Given the description of an element on the screen output the (x, y) to click on. 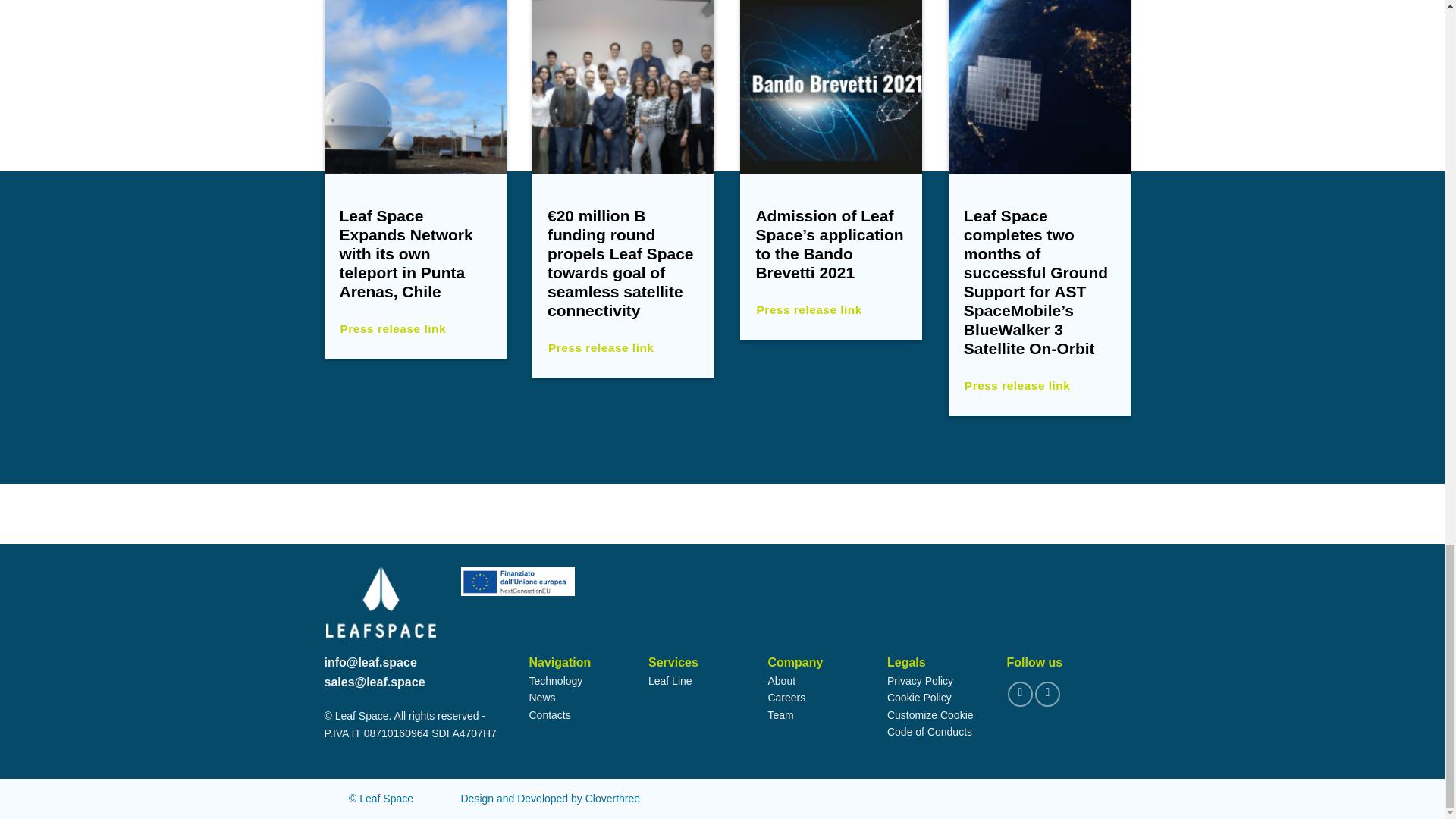
Press release link (415, 328)
Press release link (622, 347)
Press release link (831, 309)
Segui su LinkedIn (1047, 693)
Press release link (1039, 385)
Seguici su Twitter (1019, 693)
Press release link (1247, 347)
